Given the description of an element on the screen output the (x, y) to click on. 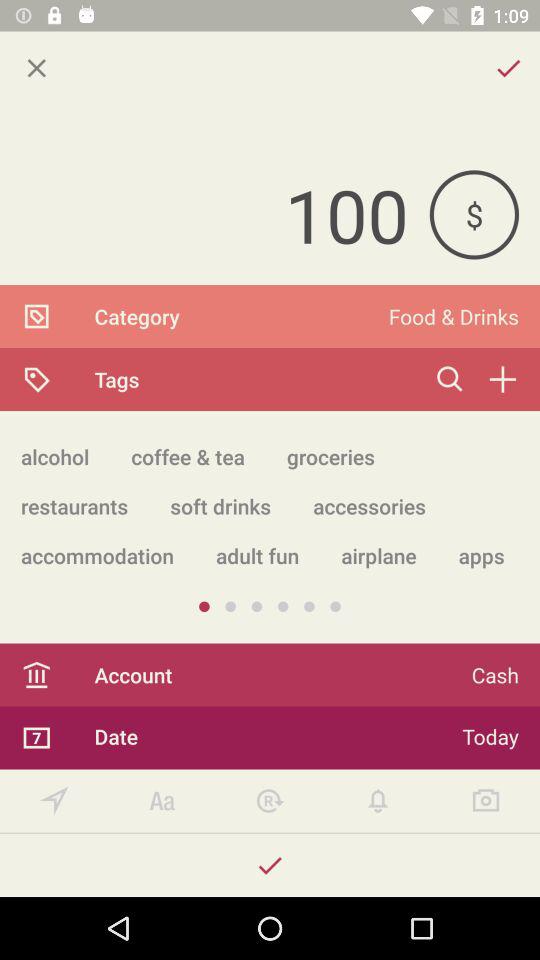
take a picture (486, 800)
